Given the description of an element on the screen output the (x, y) to click on. 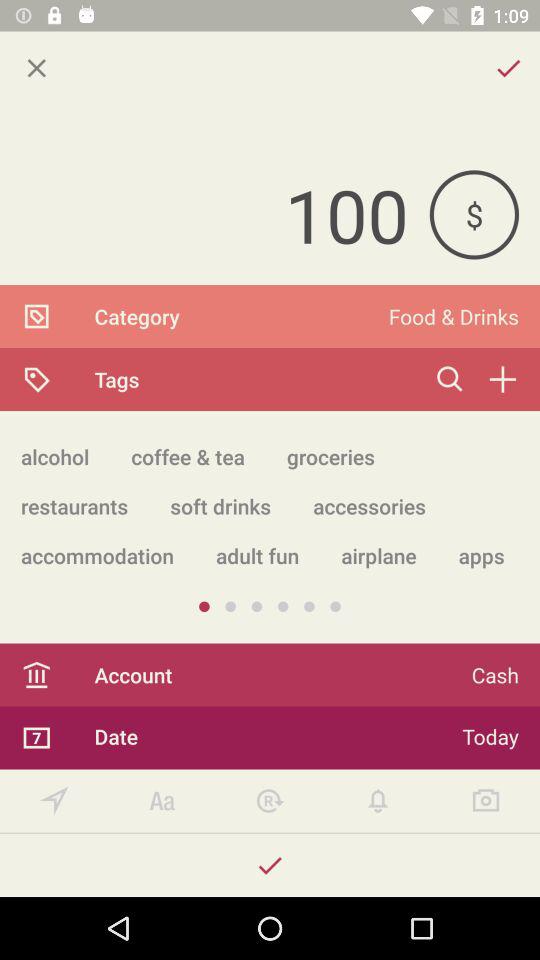
take a picture (486, 800)
